Given the description of an element on the screen output the (x, y) to click on. 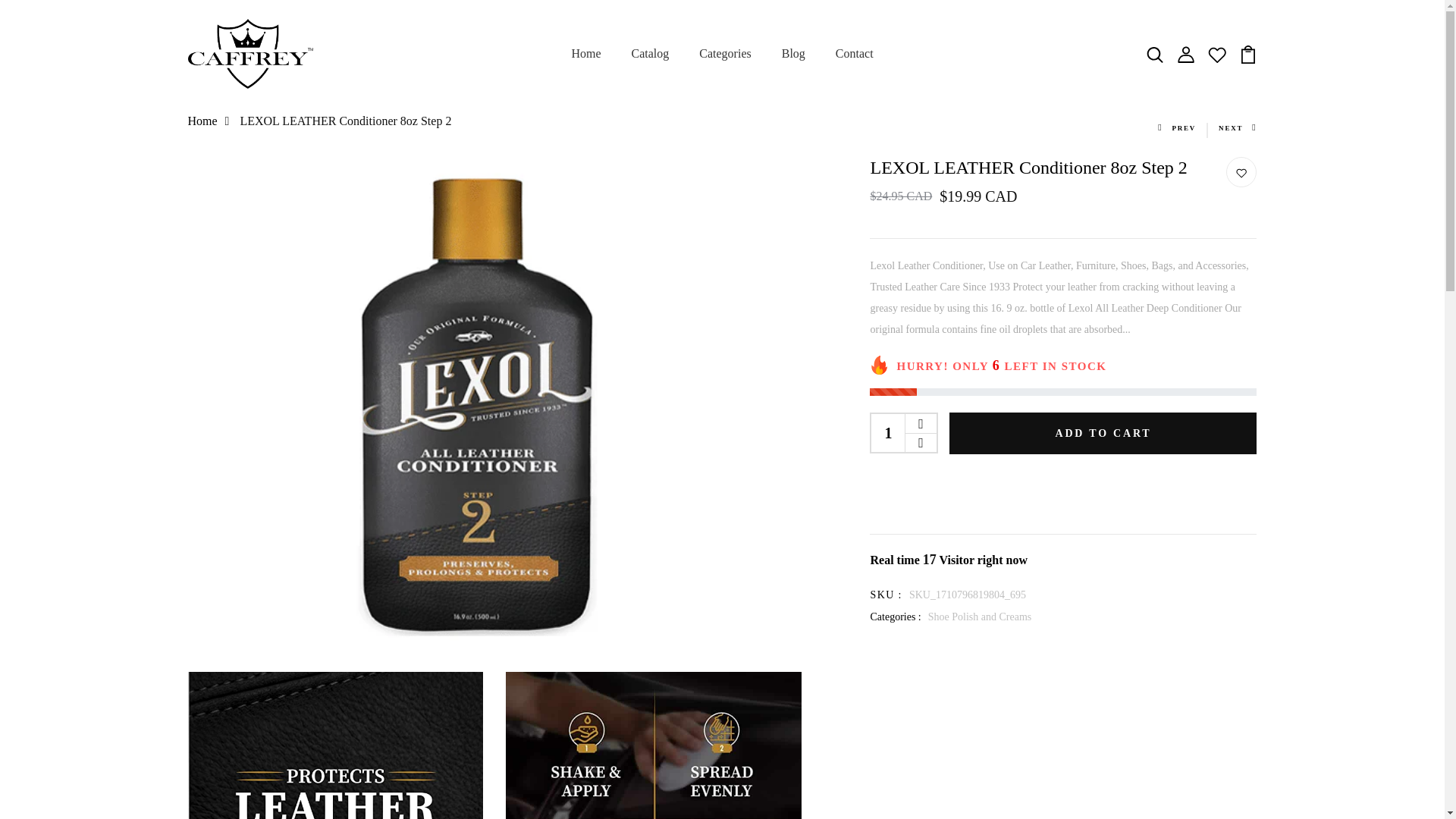
Home (584, 54)
Catalog (650, 54)
Categories (724, 54)
1 (887, 433)
Home (584, 54)
Catalog (650, 54)
Contact (854, 54)
Contact (854, 54)
Blog (793, 54)
Categories (724, 54)
